Given the description of an element on the screen output the (x, y) to click on. 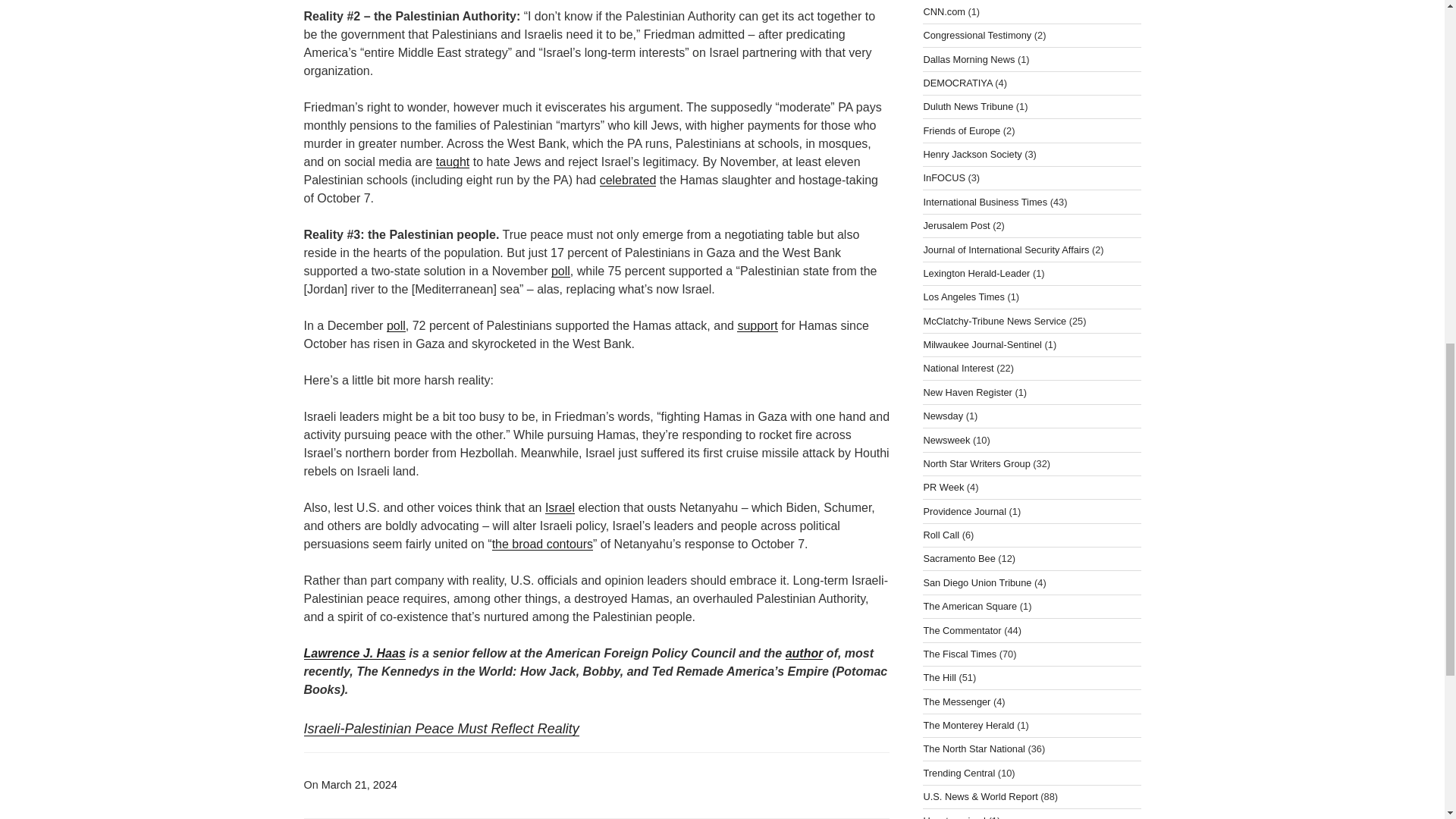
support (756, 325)
taught (451, 161)
poll (560, 270)
the broad contours (542, 543)
poll (396, 325)
March 21, 2024 (359, 784)
author (805, 653)
celebrated (627, 179)
Lawrence J. Haas (353, 653)
Israel (559, 507)
